Given the description of an element on the screen output the (x, y) to click on. 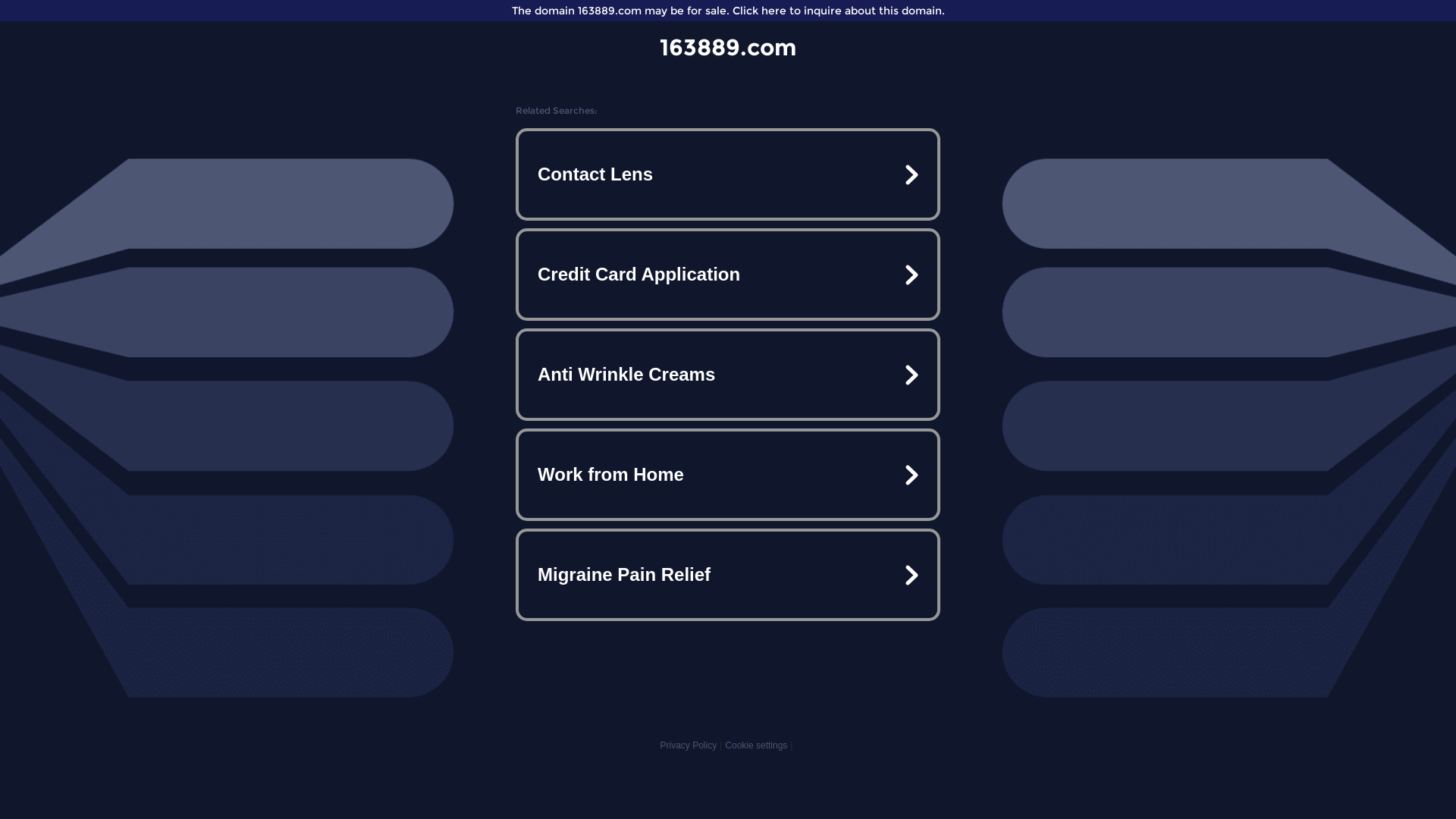
Contact Lens Element type: text (727, 174)
Work from Home Element type: text (727, 474)
Cookie settings Element type: text (755, 745)
Migraine Pain Relief Element type: text (727, 574)
Privacy Policy Element type: text (687, 745)
163889.com Element type: text (727, 47)
Anti Wrinkle Creams Element type: text (727, 374)
Credit Card Application Element type: text (727, 274)
